Given the description of an element on the screen output the (x, y) to click on. 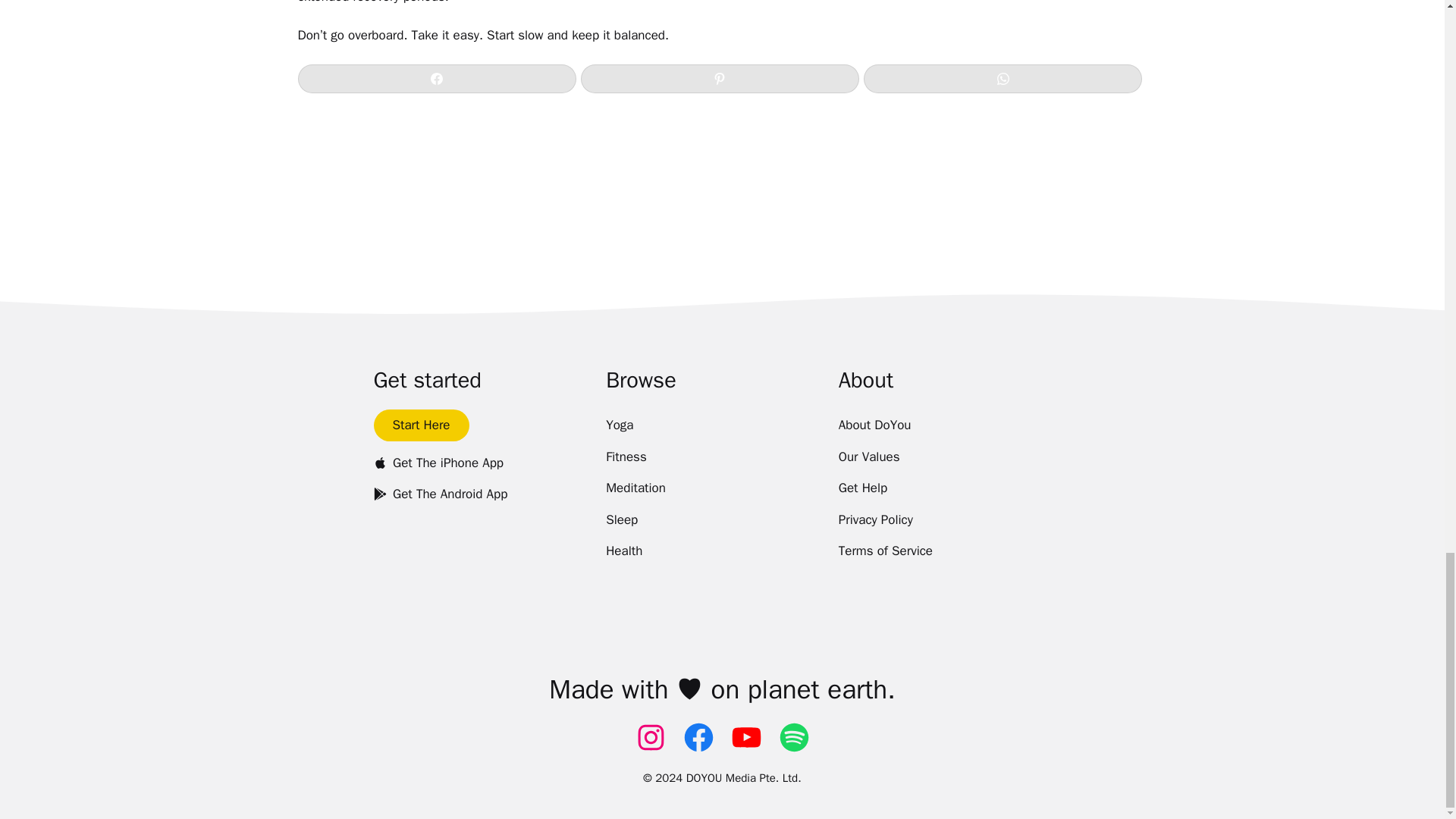
Our Values (868, 457)
Sleep (621, 520)
Health (623, 551)
Fitness (625, 457)
Terms of Service (885, 551)
Get Help (863, 488)
Meditation (635, 488)
About DoYou (874, 425)
Start Here (420, 425)
Get The Android App (439, 494)
